Given the description of an element on the screen output the (x, y) to click on. 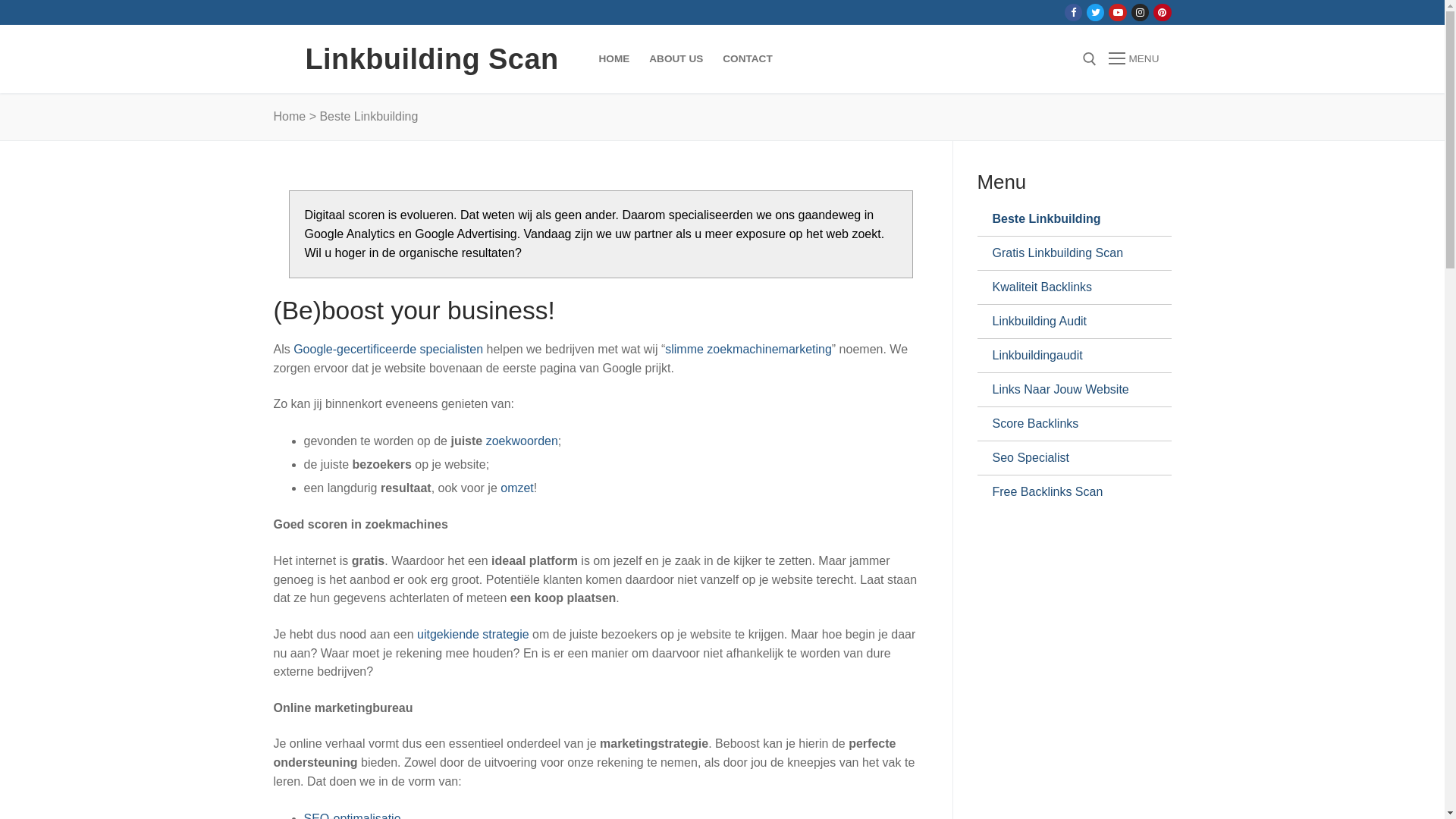
zoekwoorden Element type: text (522, 440)
Score Backlinks Element type: text (1067, 423)
Links Naar Jouw Website Element type: text (1067, 389)
uitgekiende strategie Element type: text (473, 633)
Instagram Element type: hover (1140, 12)
Free Backlinks Scan Element type: text (1067, 491)
Linkbuilding Scan Element type: text (431, 58)
Kwaliteit Backlinks Element type: text (1067, 287)
HOME Element type: text (613, 58)
ABOUT US Element type: text (675, 58)
Seo Specialist Element type: text (1067, 457)
CONTACT Element type: text (746, 58)
omzet Element type: text (516, 487)
slimme zoekmachinemarketing Element type: text (748, 348)
MENU Element type: text (1133, 59)
Twitter Element type: hover (1095, 12)
Facebook Element type: hover (1073, 12)
Gratis Linkbuilding Scan Element type: text (1067, 252)
Google-gecertificeerde specialisten Element type: text (388, 348)
Linkbuilding Audit Element type: text (1067, 321)
Youtube Element type: hover (1118, 12)
Pinterest Element type: hover (1162, 12)
Linkbuildingaudit Element type: text (1067, 355)
Beste Linkbuilding Element type: text (1067, 218)
Spring naar de inhoud Element type: text (0, 0)
